Given the description of an element on the screen output the (x, y) to click on. 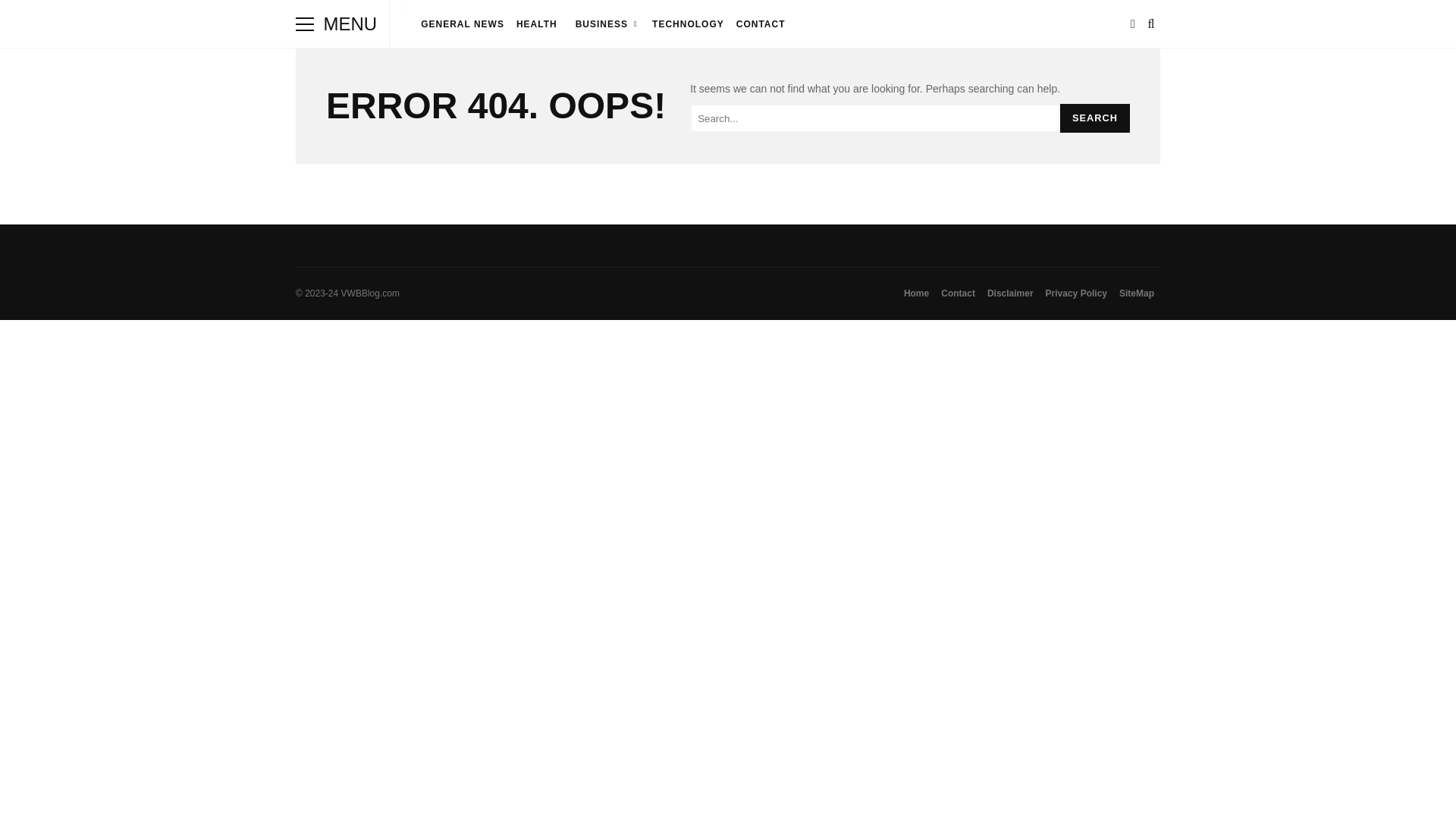
Contact (957, 293)
TECHNOLOGY (688, 24)
Disclaimer (1010, 293)
SiteMap (1136, 293)
Home (916, 293)
CONTACT (761, 24)
BUSINESS (604, 24)
GENERAL NEWS (462, 24)
HEALTH (537, 24)
Privacy Policy (1076, 293)
MENU (304, 24)
SEARCH (1094, 118)
